Given the description of an element on the screen output the (x, y) to click on. 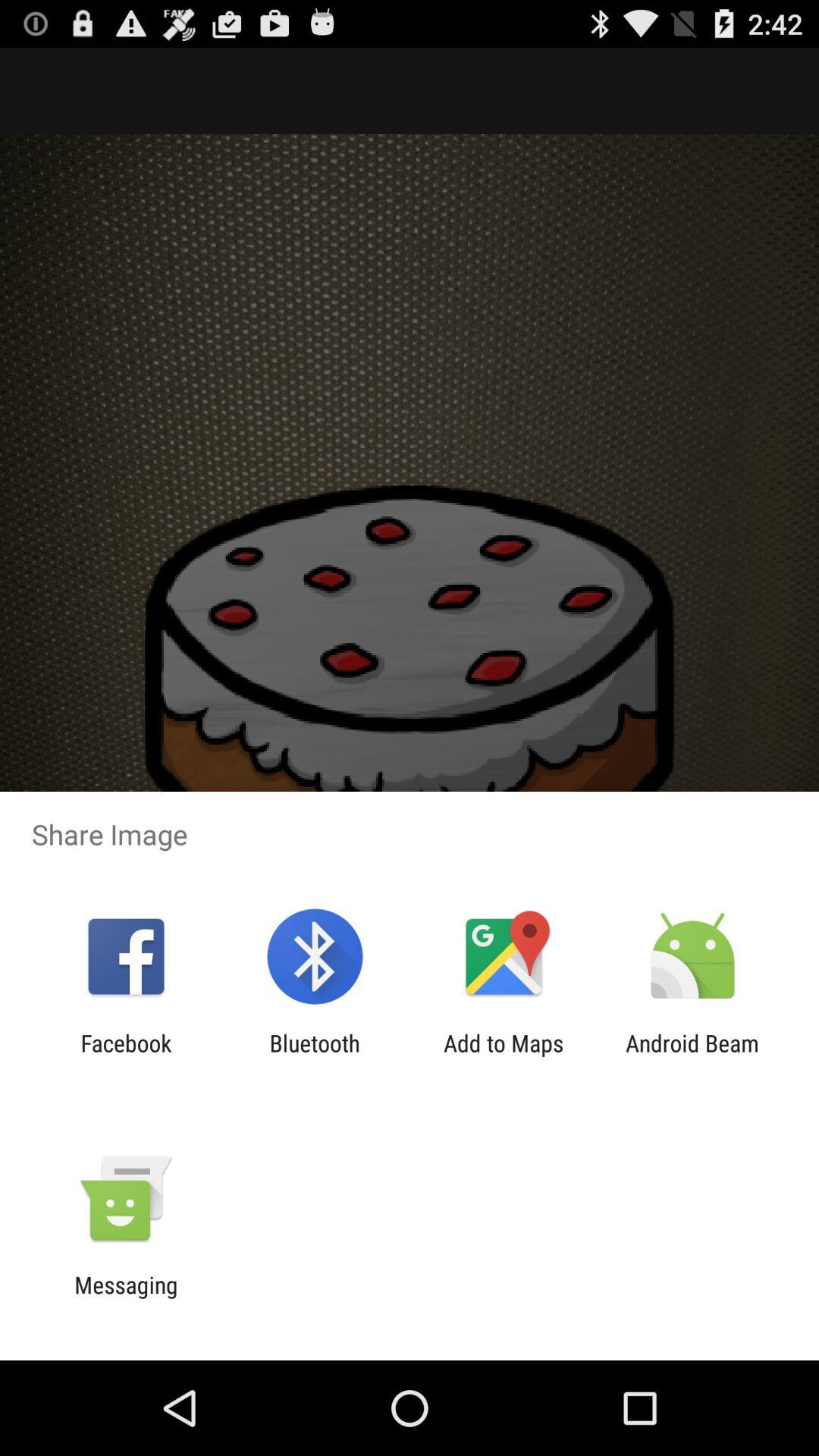
jump until android beam app (692, 1056)
